Given the description of an element on the screen output the (x, y) to click on. 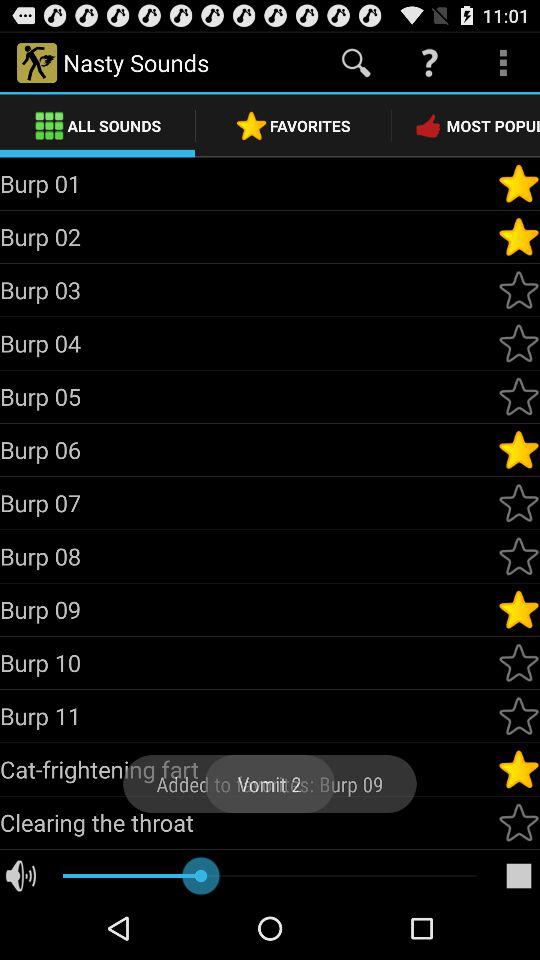
launch burp 07 (248, 502)
